Given the description of an element on the screen output the (x, y) to click on. 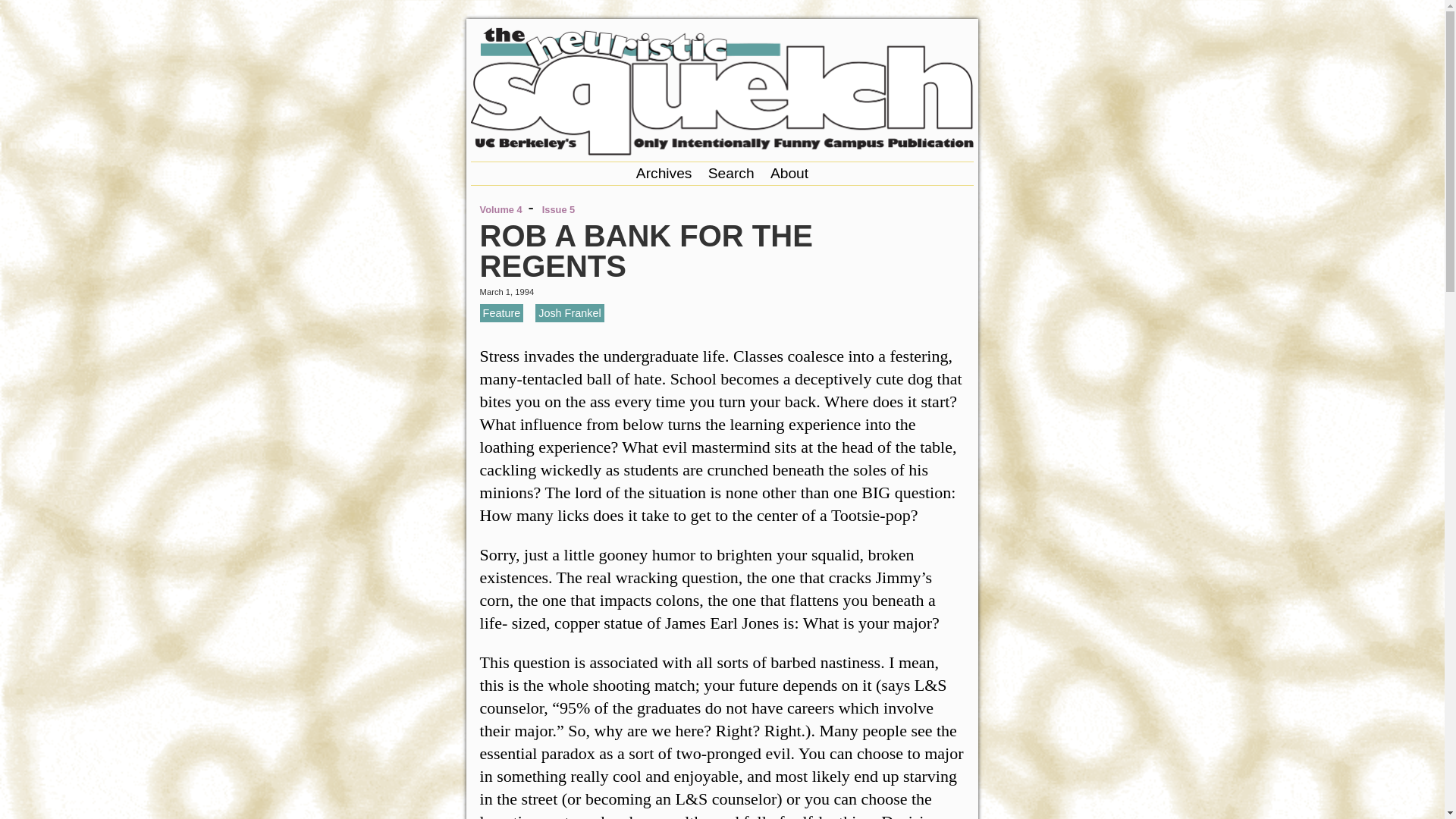
Search (730, 172)
Josh Frankel (569, 312)
Feature (502, 312)
Issue 5 (558, 209)
Rob a Bank for the Regents (646, 250)
About (789, 172)
Volume 4 (501, 209)
The Heuristic Squelch (722, 150)
ROB A BANK FOR THE REGENTS (646, 250)
Archives (664, 172)
